Given the description of an element on the screen output the (x, y) to click on. 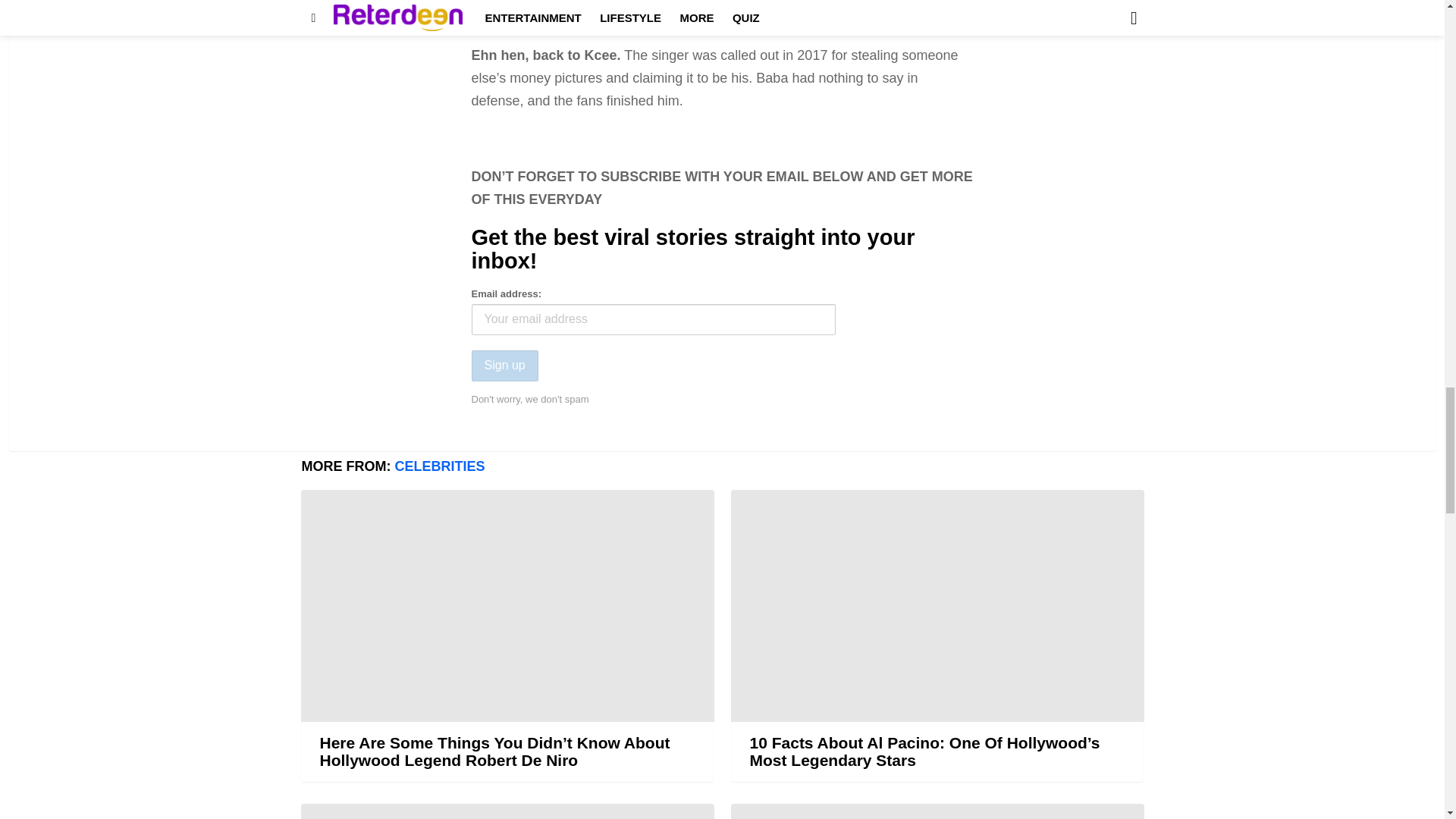
Sign up (504, 365)
